Given the description of an element on the screen output the (x, y) to click on. 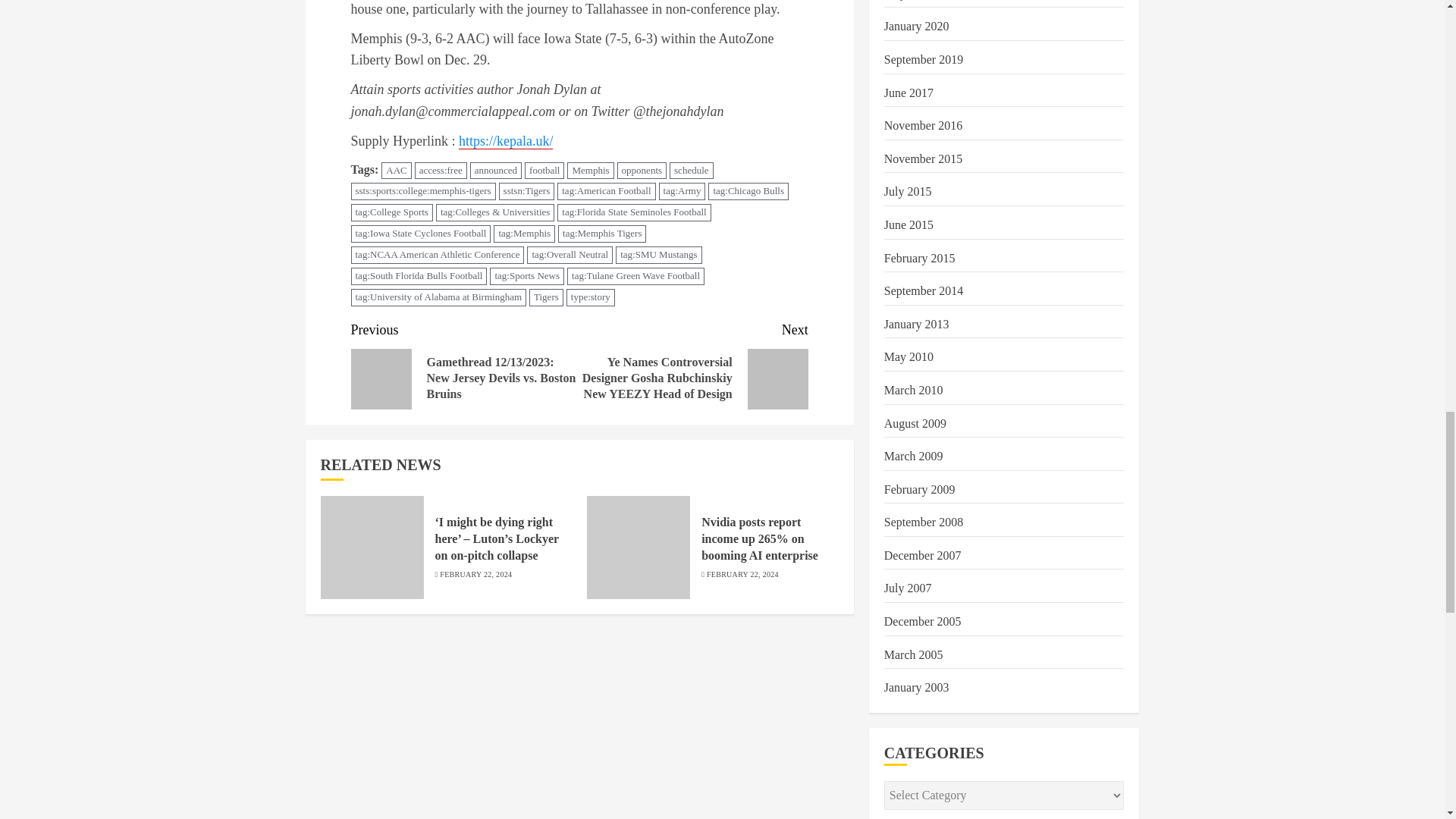
tag:South Florida Bulls Football (418, 276)
tag:SMU Mustangs (658, 254)
access:free (440, 170)
tag:Tulane Green Wave Football (635, 276)
tag:NCAA American Athletic Conference (437, 254)
tag:American Football (606, 190)
tag:Army (682, 190)
Memphis (589, 170)
opponents (641, 170)
announced (495, 170)
tag:Florida State Seminoles Football (633, 212)
tag:College Sports (391, 212)
tag:Overall Neutral (569, 254)
tag:Sports News (526, 276)
tag:Memphis (523, 233)
